Given the description of an element on the screen output the (x, y) to click on. 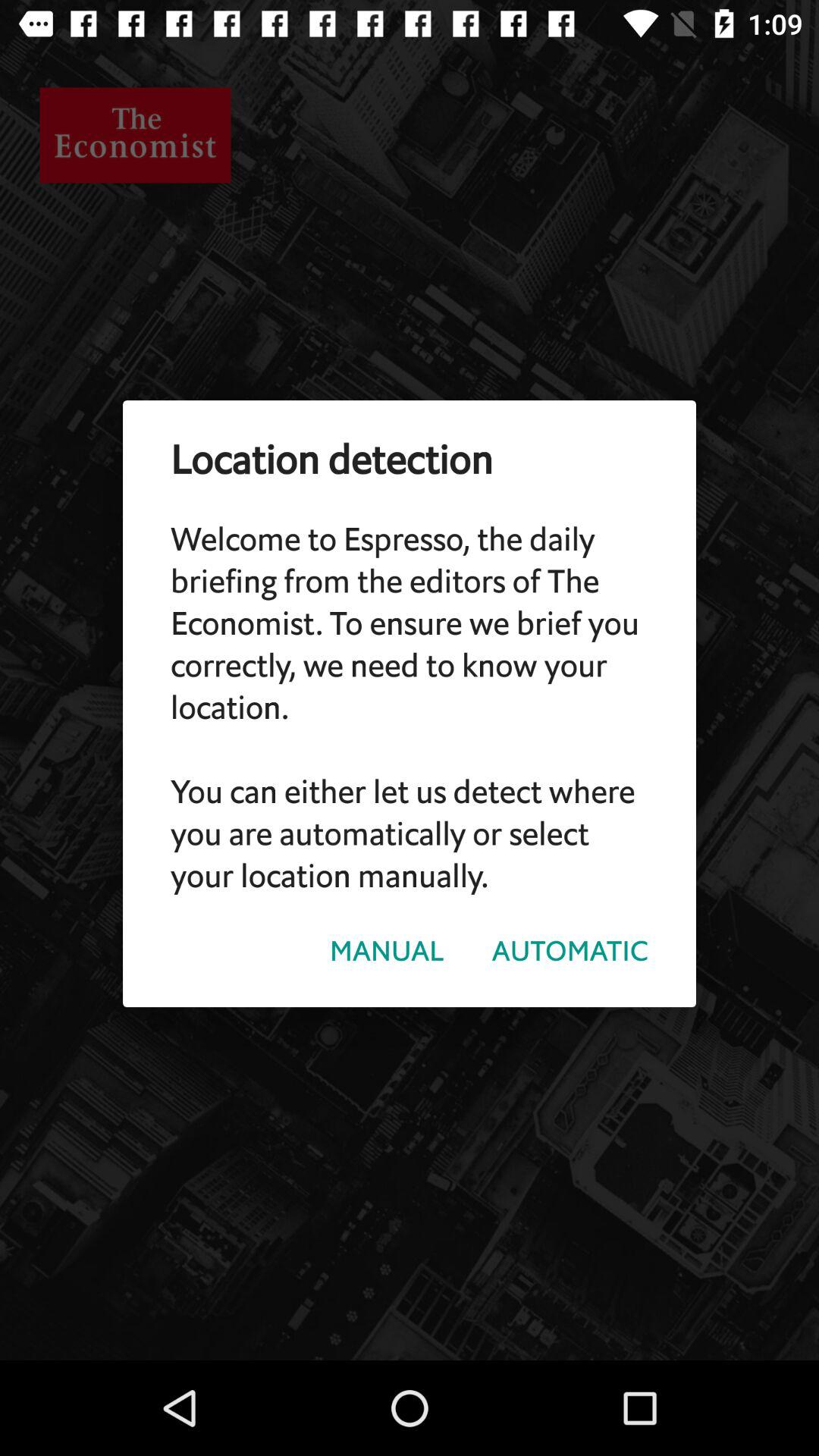
scroll until the automatic (570, 951)
